Given the description of an element on the screen output the (x, y) to click on. 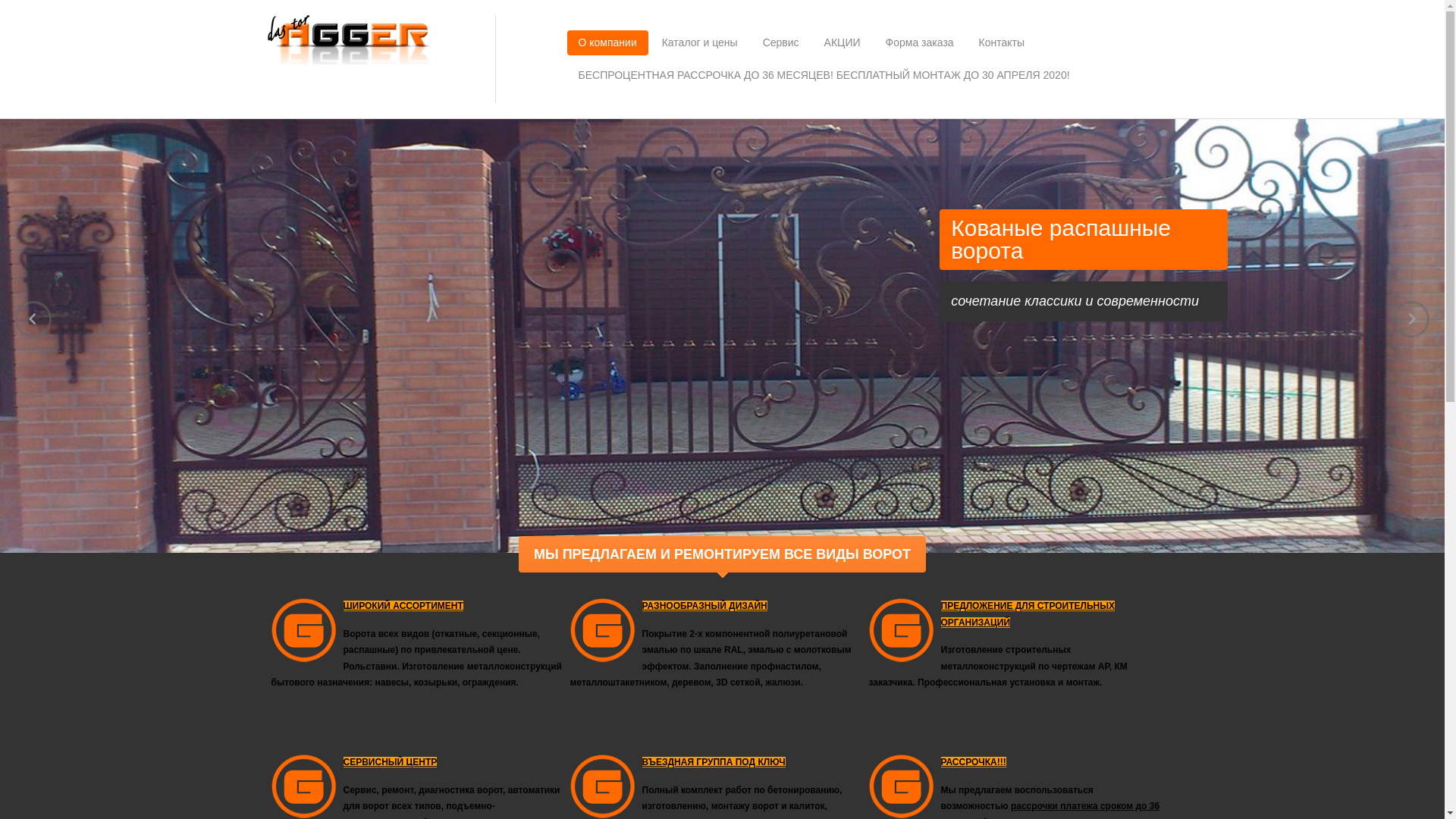
next Element type: text (1411, 319)
prev Element type: text (33, 319)
